Given the description of an element on the screen output the (x, y) to click on. 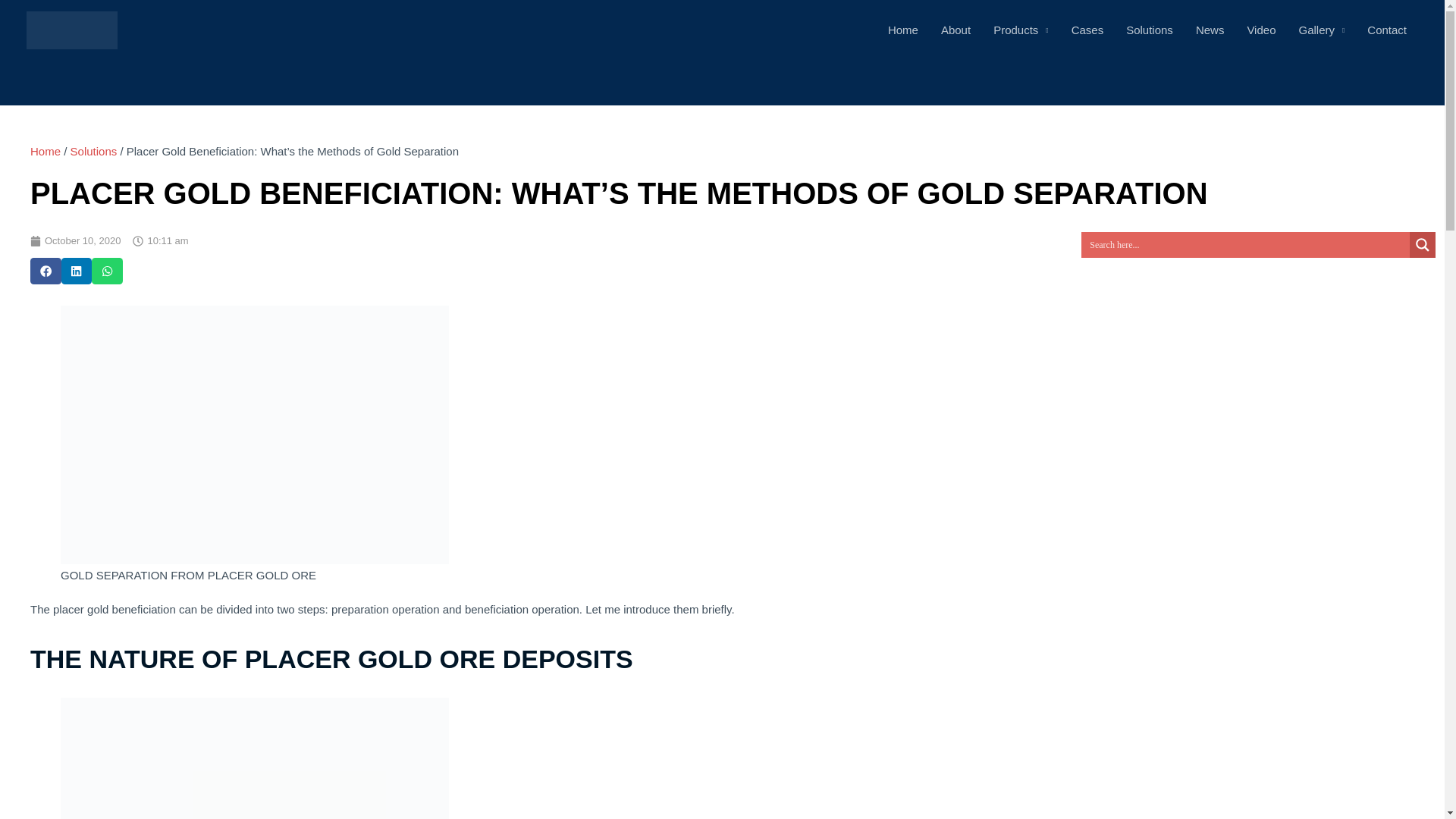
Gallery (1321, 30)
Products (1020, 30)
About (955, 30)
News (1210, 30)
Home (903, 30)
Cases (1087, 30)
Solutions (93, 151)
Home (45, 151)
Solutions (1150, 30)
October 10, 2020 (75, 240)
Contact (1386, 30)
Video (1260, 30)
